Given the description of an element on the screen output the (x, y) to click on. 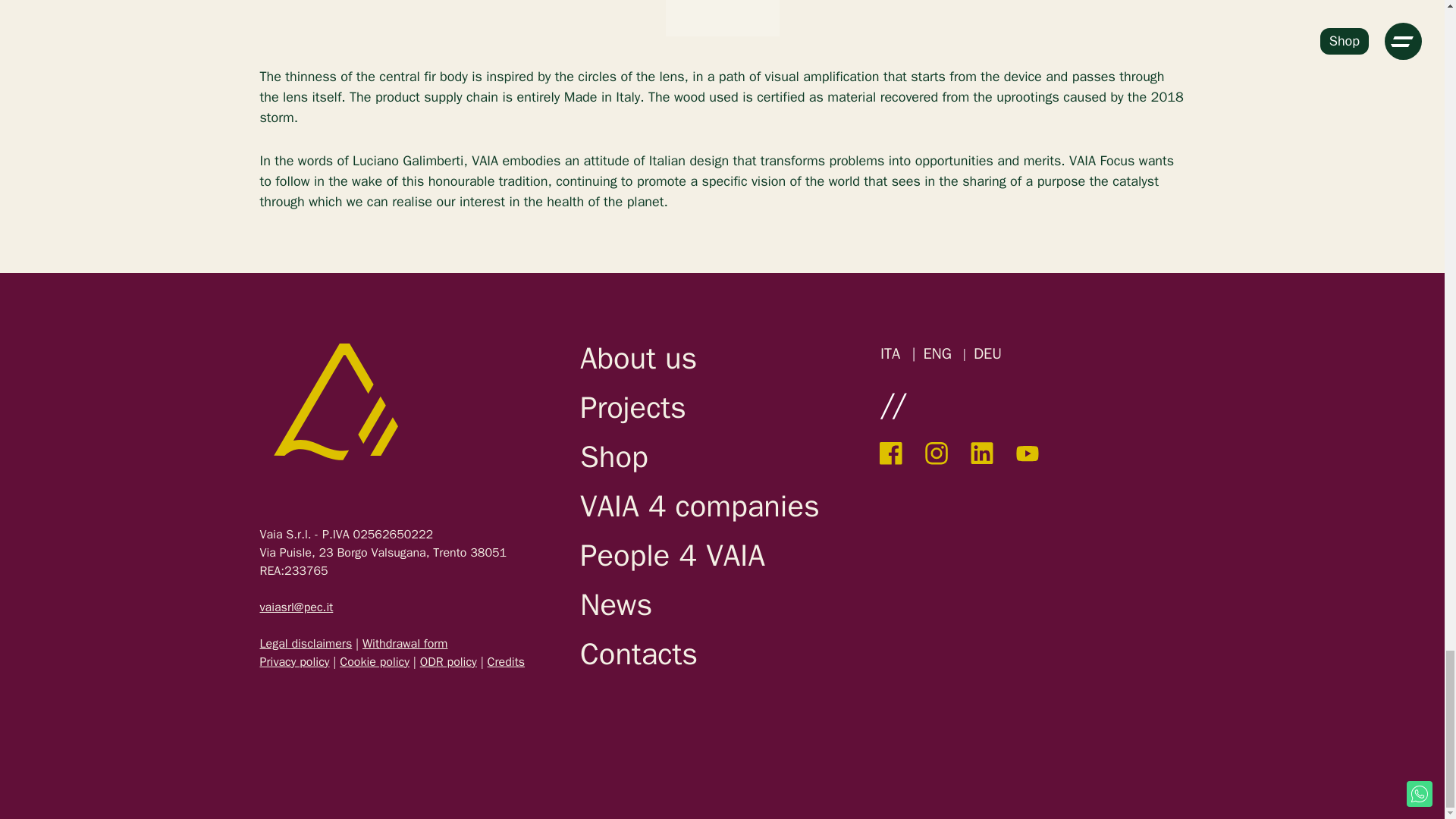
Piano D (506, 661)
Legal disclaimers (305, 643)
Instagram (935, 453)
Withdrawal form (404, 643)
Linkedin (981, 453)
Privacy policy (294, 661)
YouTube (1027, 453)
Facebook (890, 453)
ODR policy (448, 661)
VAIAFace What Matters (334, 401)
Cookie policy (374, 661)
